Given the description of an element on the screen output the (x, y) to click on. 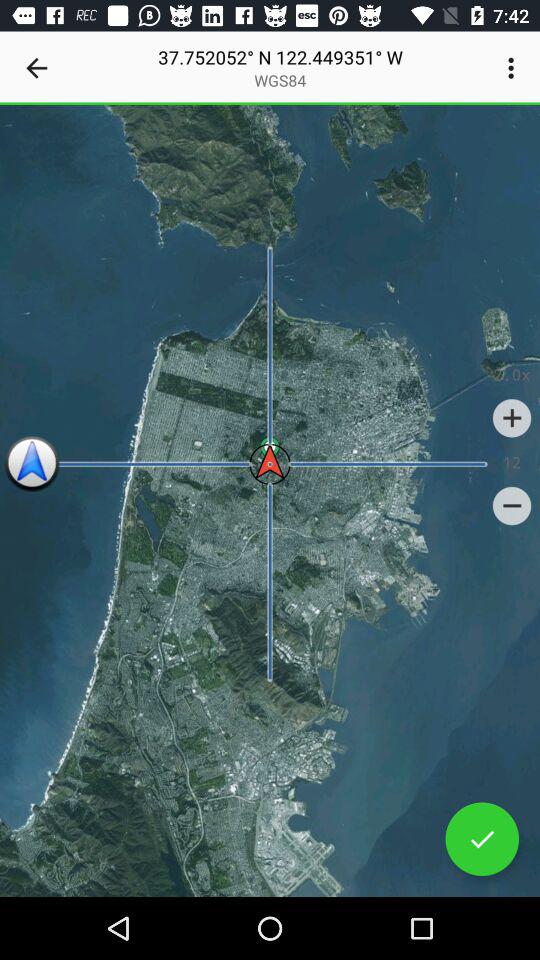
choose item to the left of 37 752052 n item (36, 67)
